Given the description of an element on the screen output the (x, y) to click on. 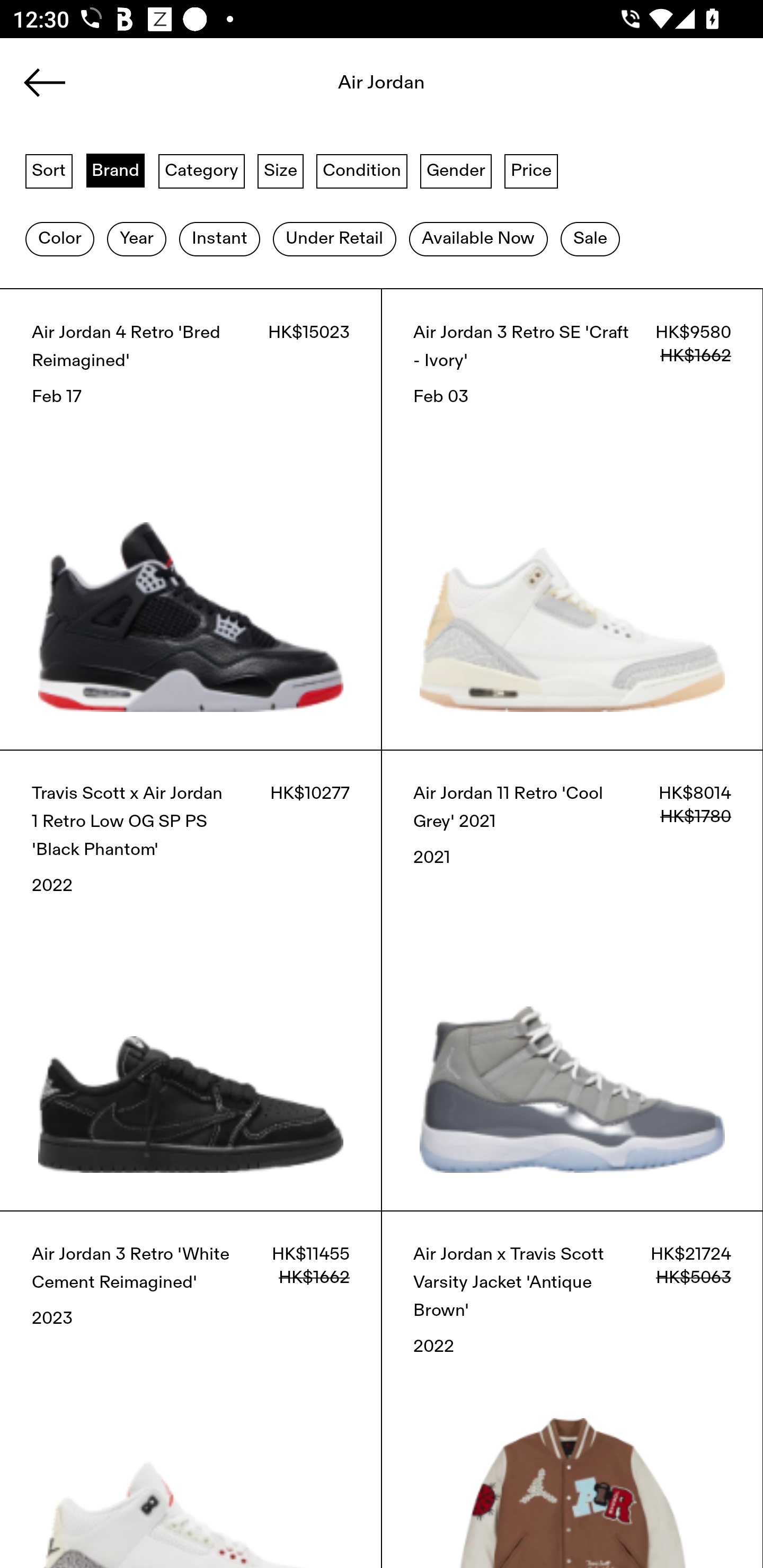
Sort (48, 170)
Brand (115, 170)
Category (201, 170)
Size (280, 170)
Condition (361, 170)
Gender (455, 170)
Price (530, 170)
Color (59, 239)
Year (136, 239)
Instant (219, 239)
Under Retail (334, 239)
Available Now (477, 239)
Sale (589, 239)
